Given the description of an element on the screen output the (x, y) to click on. 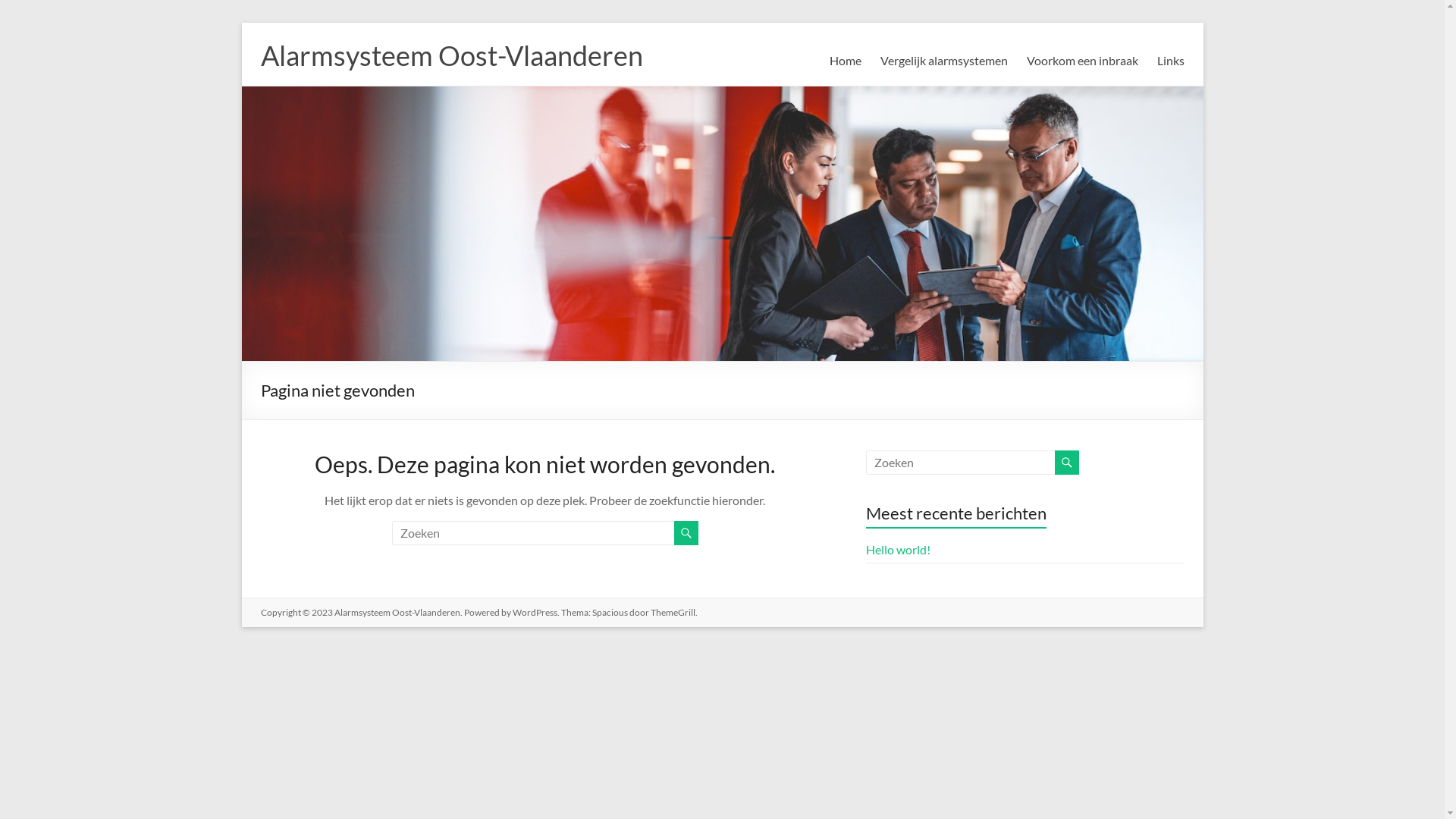
Alarmsysteem Oost-Vlaanderen Element type: text (451, 55)
Skip to content Element type: text (241, 21)
Hello world! Element type: text (898, 549)
Alarmsysteem Oost-Vlaanderen Element type: text (396, 612)
Voorkom een inbraak Element type: text (1082, 60)
ThemeGrill Element type: text (672, 612)
Vergelijk alarmsystemen Element type: text (943, 60)
Links Element type: text (1170, 60)
Home Element type: text (845, 60)
WordPress Element type: text (534, 612)
